Given the description of an element on the screen output the (x, y) to click on. 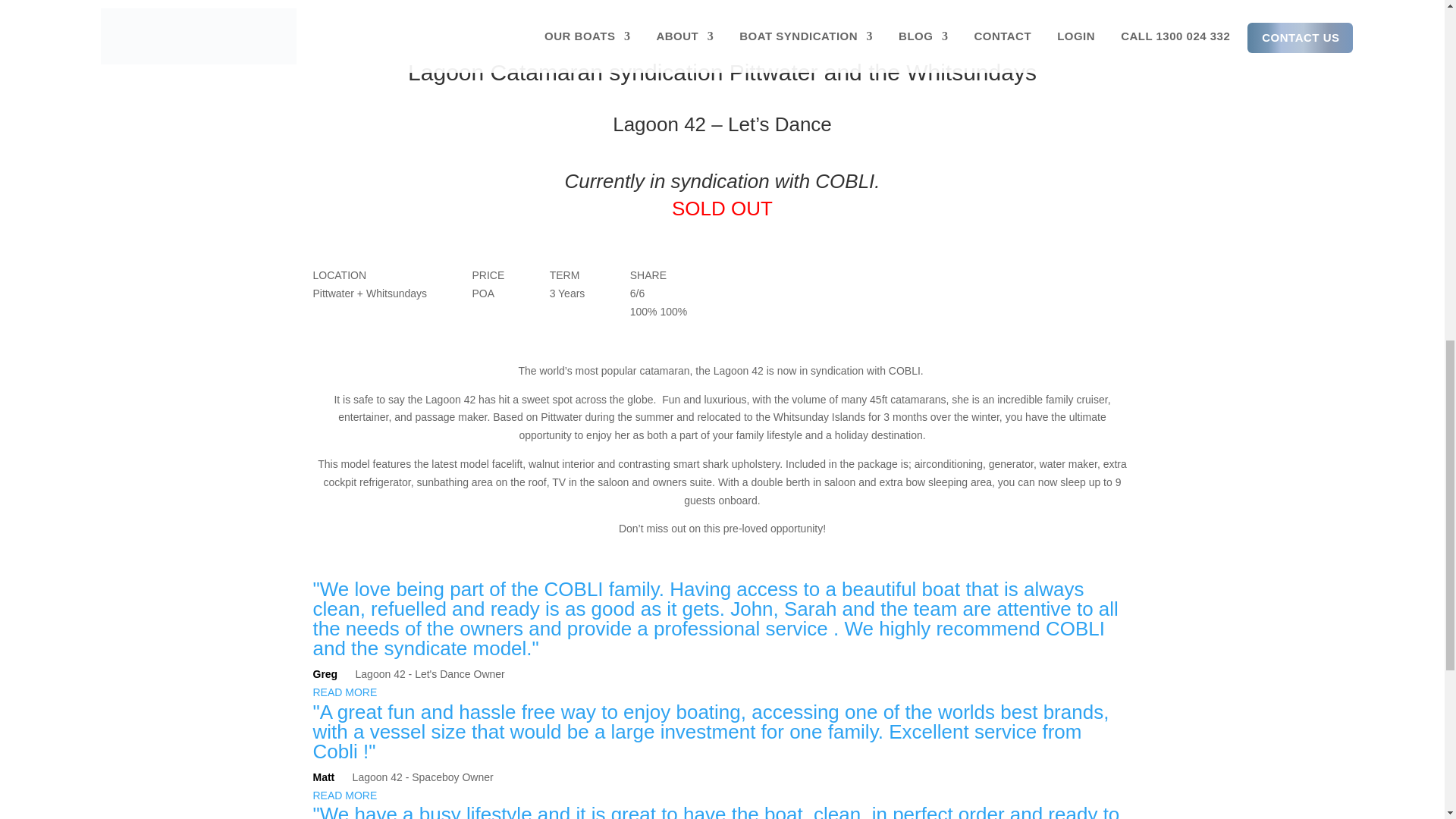
READ MORE (345, 692)
READ MORE (345, 795)
